Given the description of an element on the screen output the (x, y) to click on. 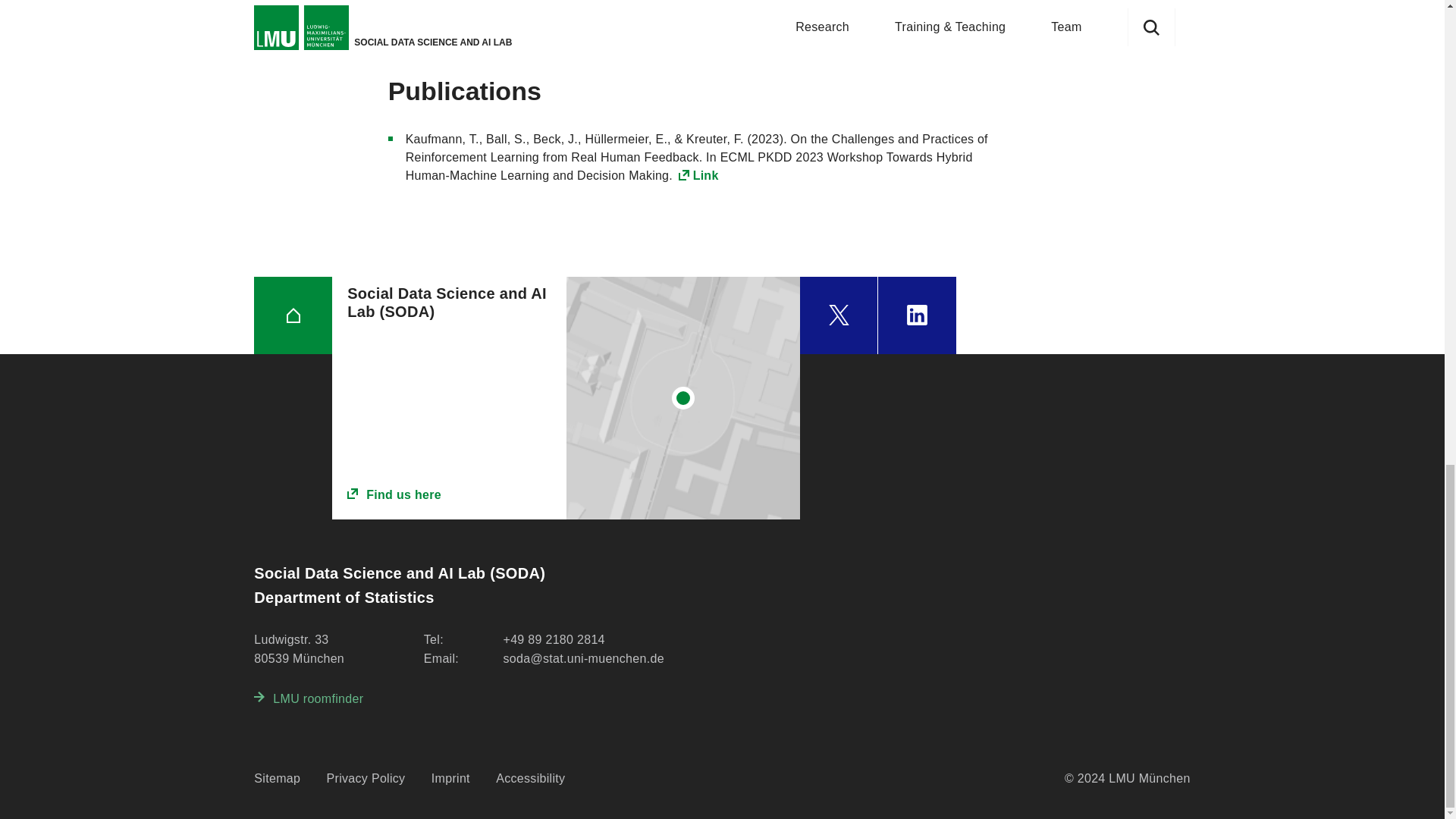
LinkedIn-Link opens in a new window (916, 315)
Sitemap (276, 778)
Find us here (449, 495)
LMU roomfinder (307, 699)
Home (292, 315)
Imprint (450, 778)
Twitter (838, 315)
Accessibility (530, 778)
Twitter-Link opens in a new window (838, 315)
Plan section LMU main building (683, 397)
Kreuter, Frauke (437, 30)
Link (698, 174)
Privacy Policy (366, 778)
LinkedIn (916, 315)
